Given the description of an element on the screen output the (x, y) to click on. 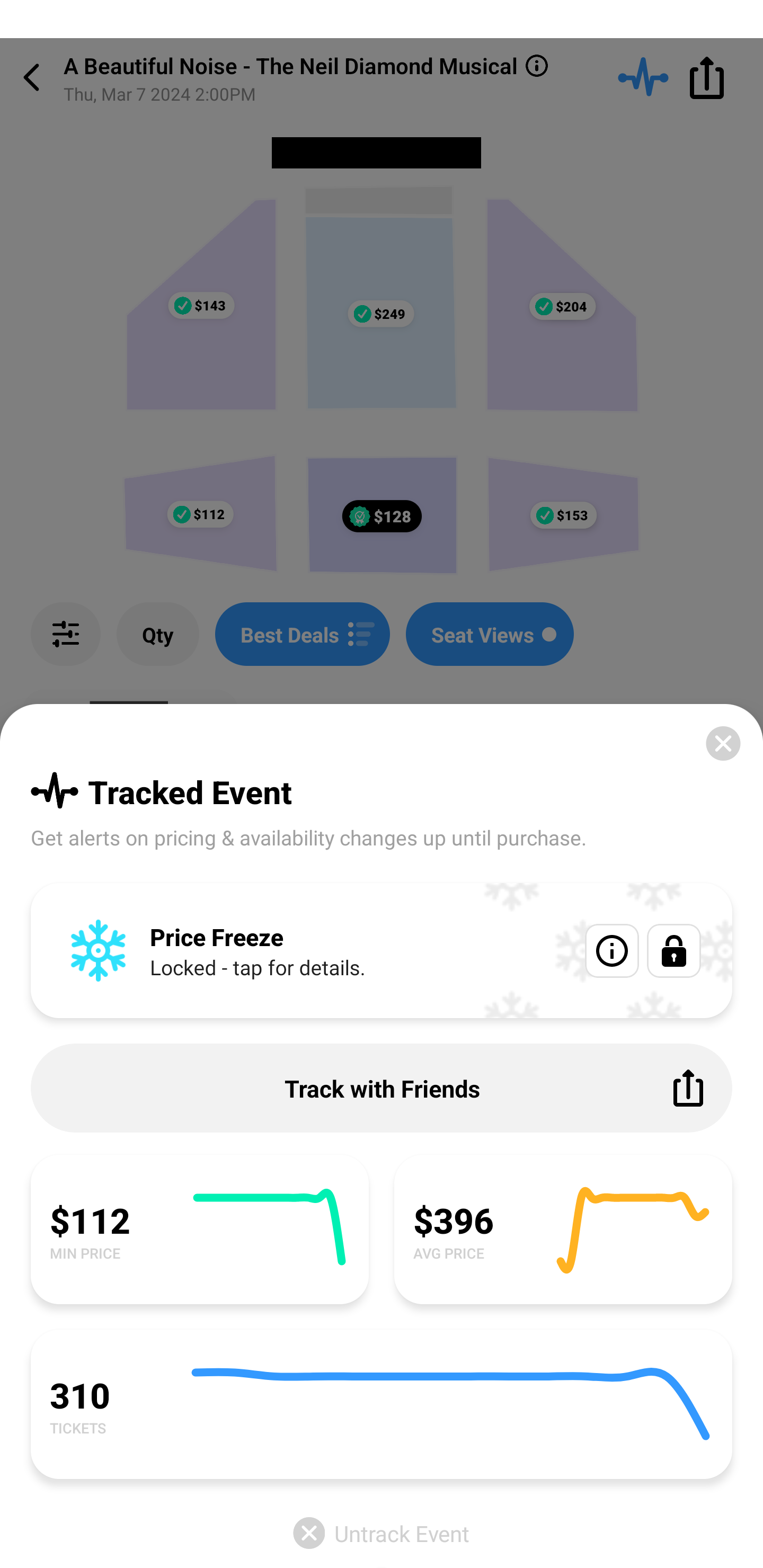
Track with Friends (381, 1088)
Untrack Event (381, 1533)
